Given the description of an element on the screen output the (x, y) to click on. 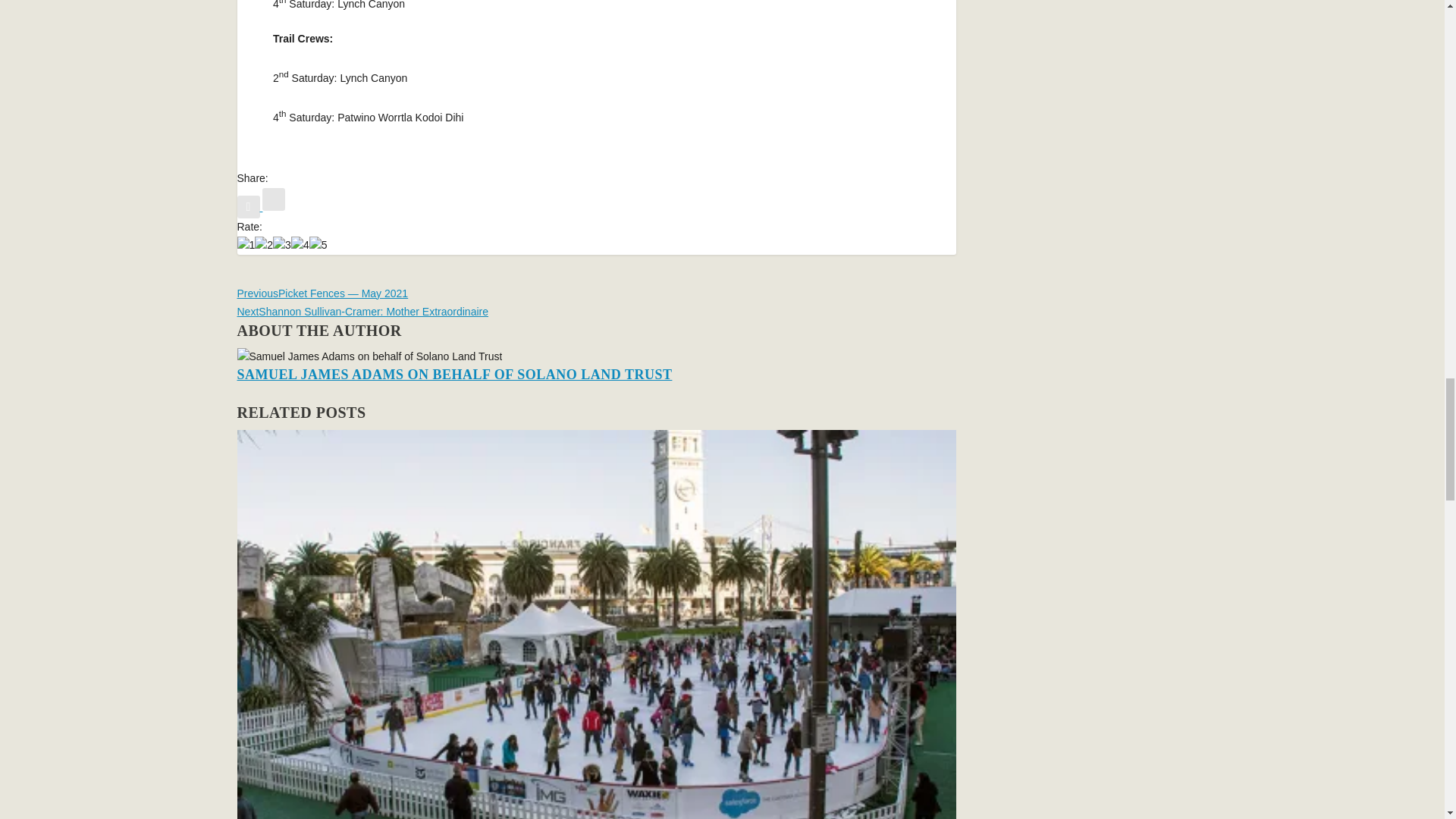
poor (263, 245)
Share "Expanding your view of county Land" via Facebook (248, 206)
bad (244, 245)
regular (282, 245)
good (299, 245)
Share "Expanding your view of county Land" via Email (273, 206)
